Given the description of an element on the screen output the (x, y) to click on. 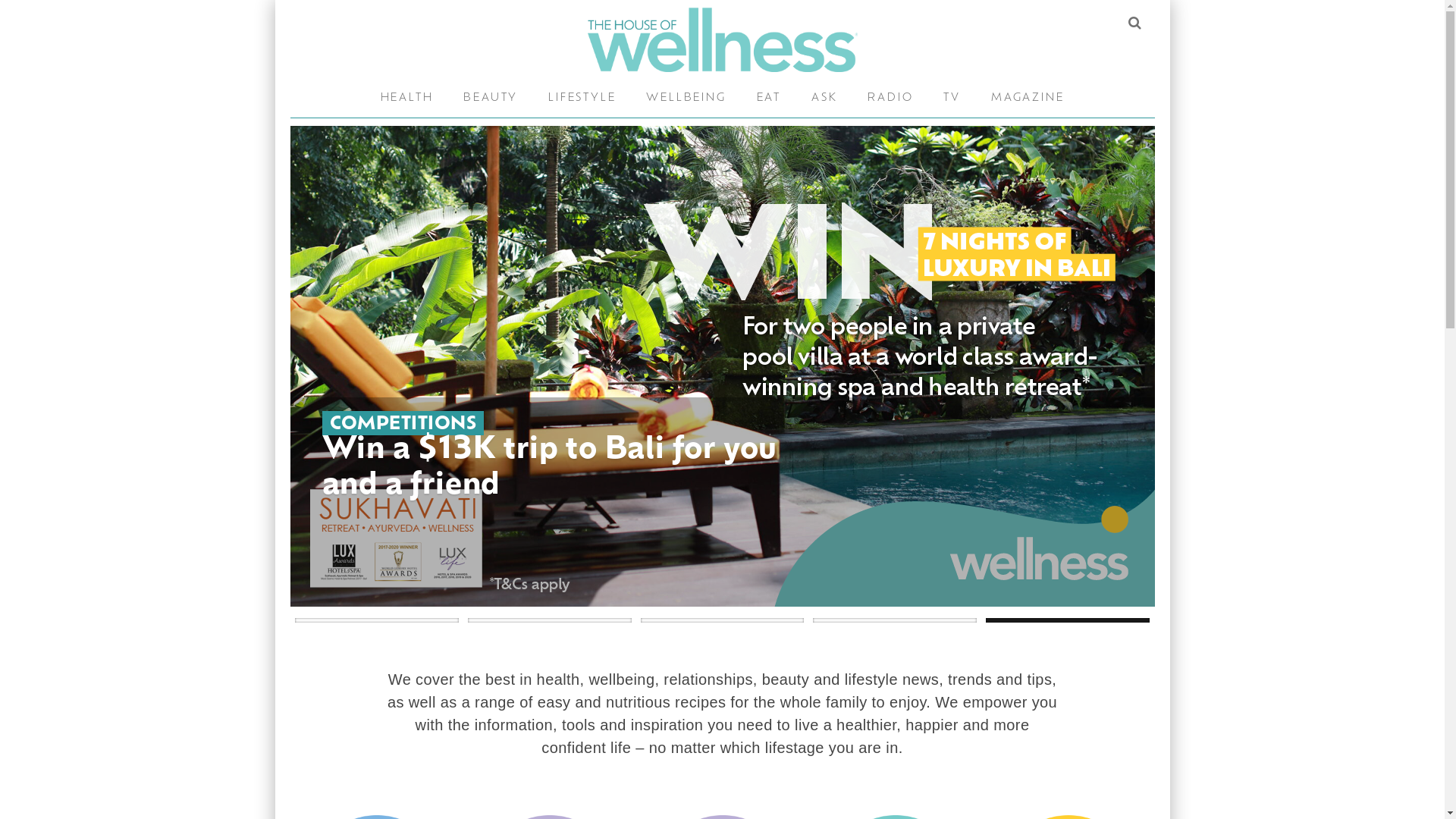
1 Element type: text (376, 620)
TV Element type: text (951, 98)
5 Element type: text (1067, 620)
2 Element type: text (549, 620)
BEAUTY Element type: text (490, 98)
LIFESTYLE Element type: text (375, 426)
4 Element type: text (894, 620)
Permalink to Win a $13K trip to Bali for you and a friend Element type: hover (721, 365)
3 Element type: text (722, 620)
HEALTH Element type: text (406, 98)
ASK Element type: text (824, 98)
Search Element type: text (1133, 22)
The House of Wellness Element type: text (721, 39)
MAGAZINE Element type: text (1027, 98)
RADIO Element type: text (890, 98)
EAT Element type: text (768, 98)
LIFESTYLE Element type: text (581, 98)
WELLBEING Element type: text (685, 98)
